Given the description of an element on the screen output the (x, y) to click on. 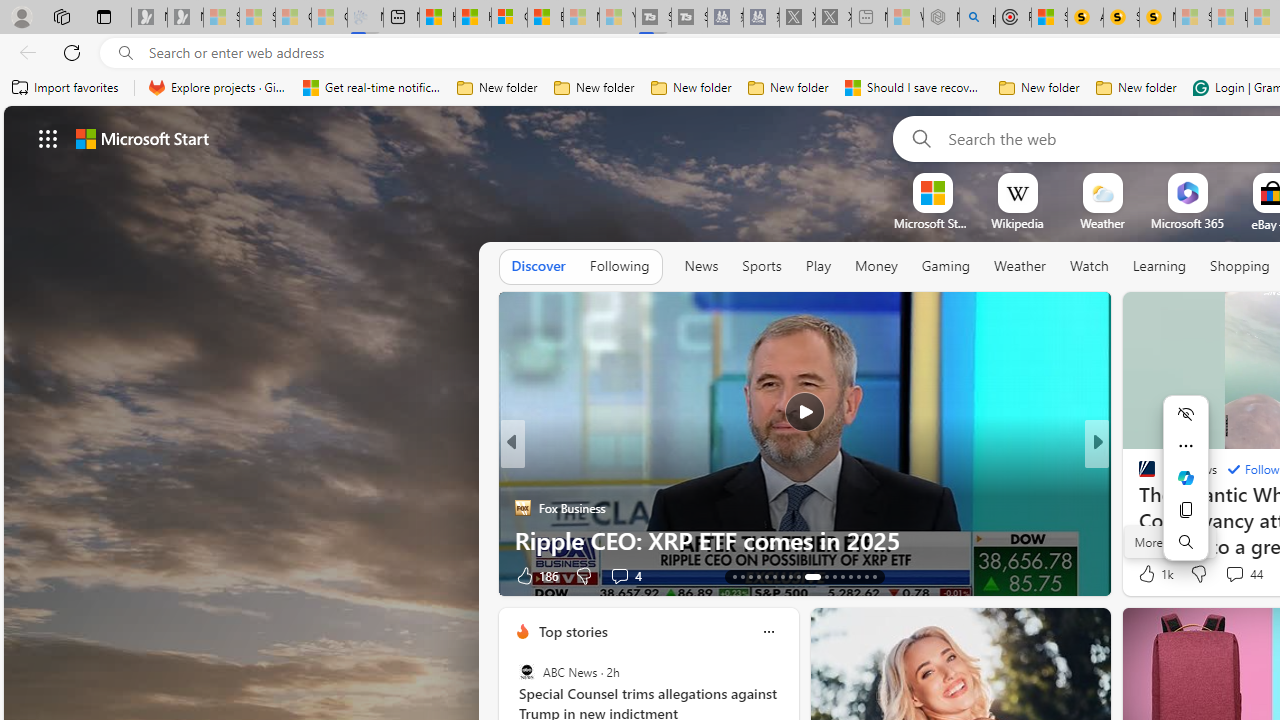
Following (619, 267)
USA TODAY (1138, 475)
Watch (1089, 267)
Shopping (1240, 265)
View comments 77 Comment (11, 575)
CNBC (1138, 475)
Discover (538, 265)
View comments 3 Comment (1234, 574)
AutomationID: tab-29 (874, 576)
Nordace - Summer Adventures 2024 - Sleeping (941, 17)
39 Like (1149, 574)
To get missing image descriptions, open the context menu. (932, 192)
ABC News (526, 672)
